Given the description of an element on the screen output the (x, y) to click on. 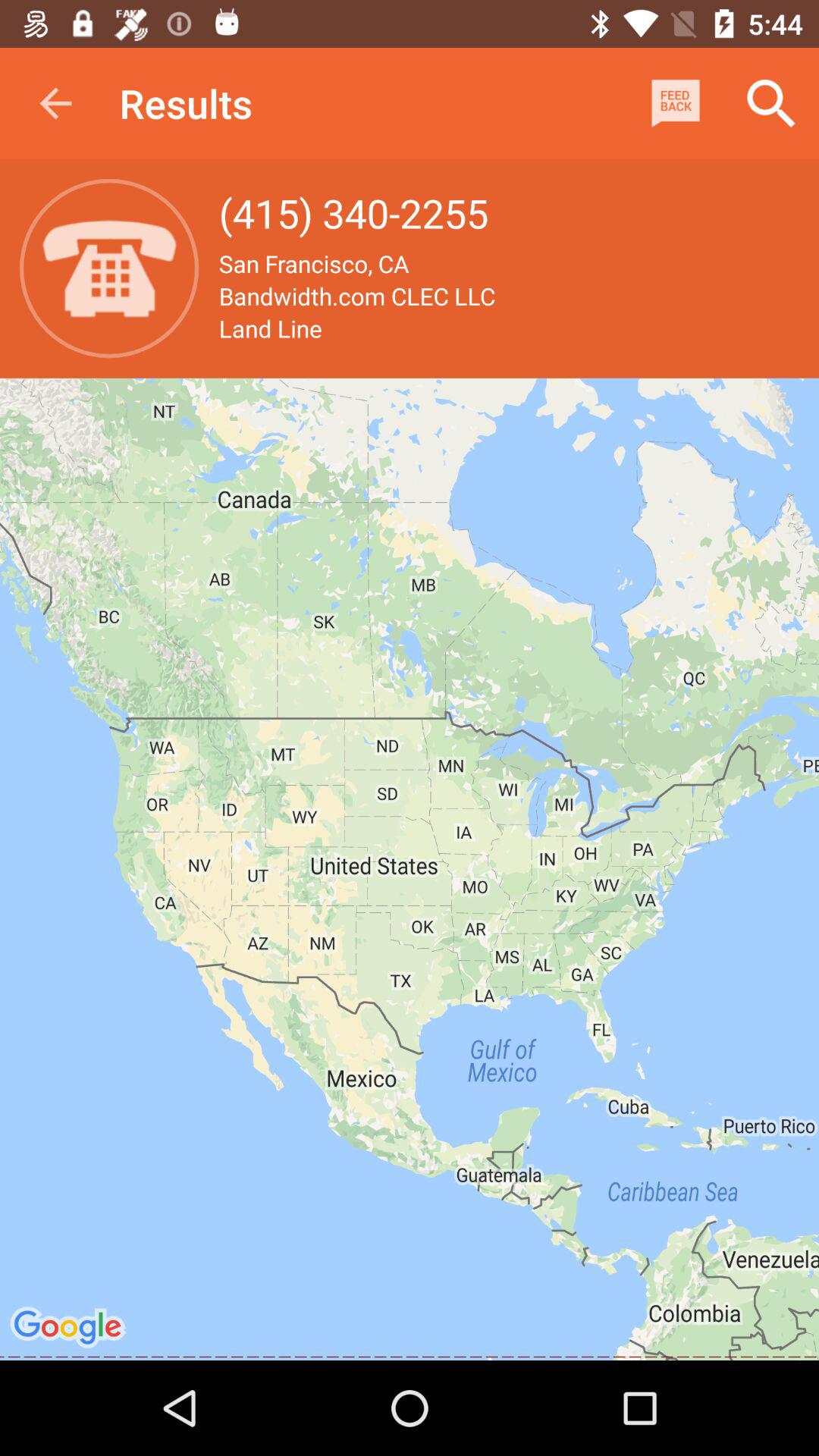
open the item next to the results icon (55, 103)
